Given the description of an element on the screen output the (x, y) to click on. 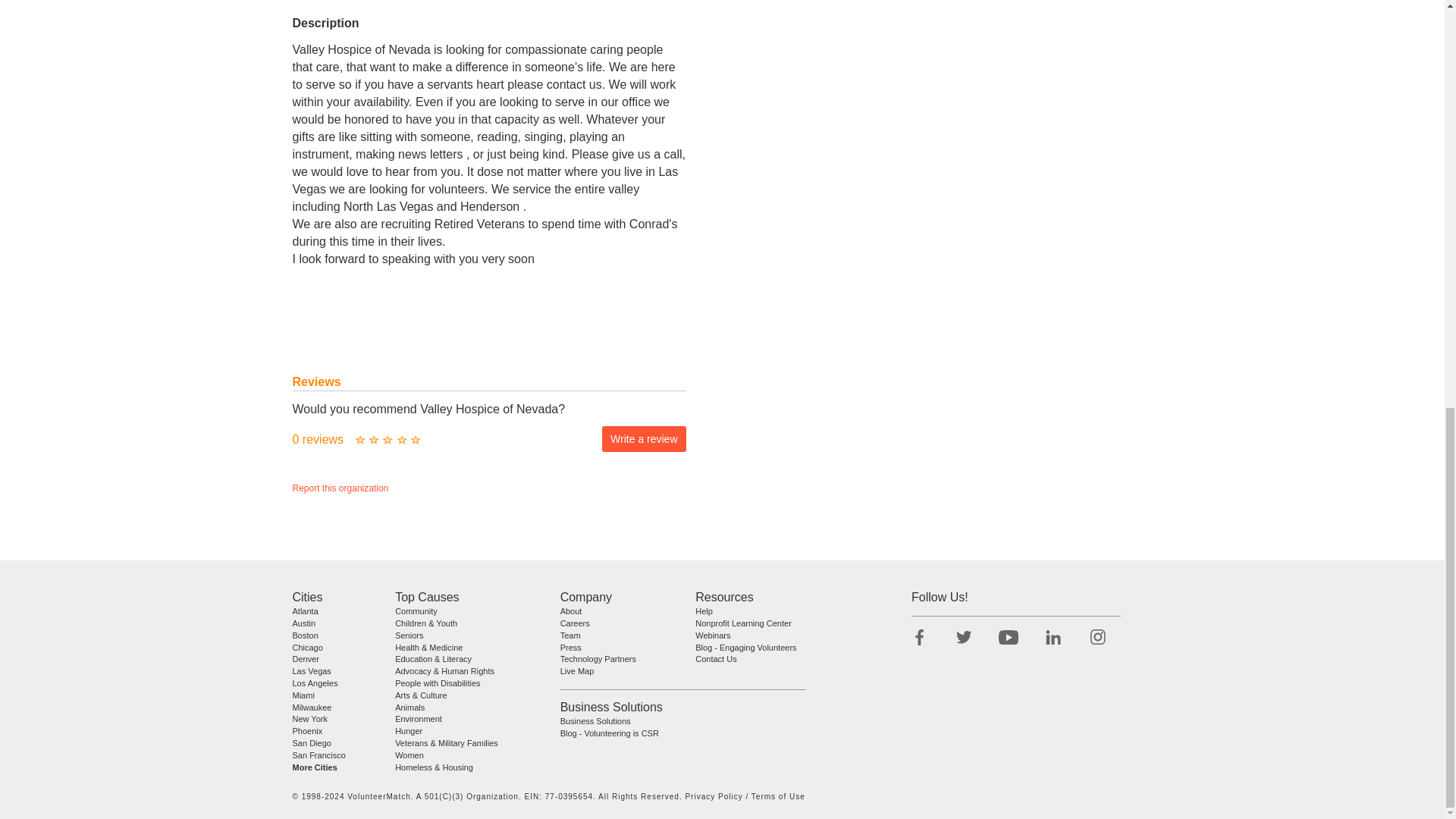
Los Angeles (314, 682)
Boston (305, 634)
Denver (305, 659)
Las Vegas (311, 670)
Austin (303, 623)
Report this organization (340, 488)
Chicago (307, 646)
Write a review (643, 438)
Atlanta (305, 610)
